Given the description of an element on the screen output the (x, y) to click on. 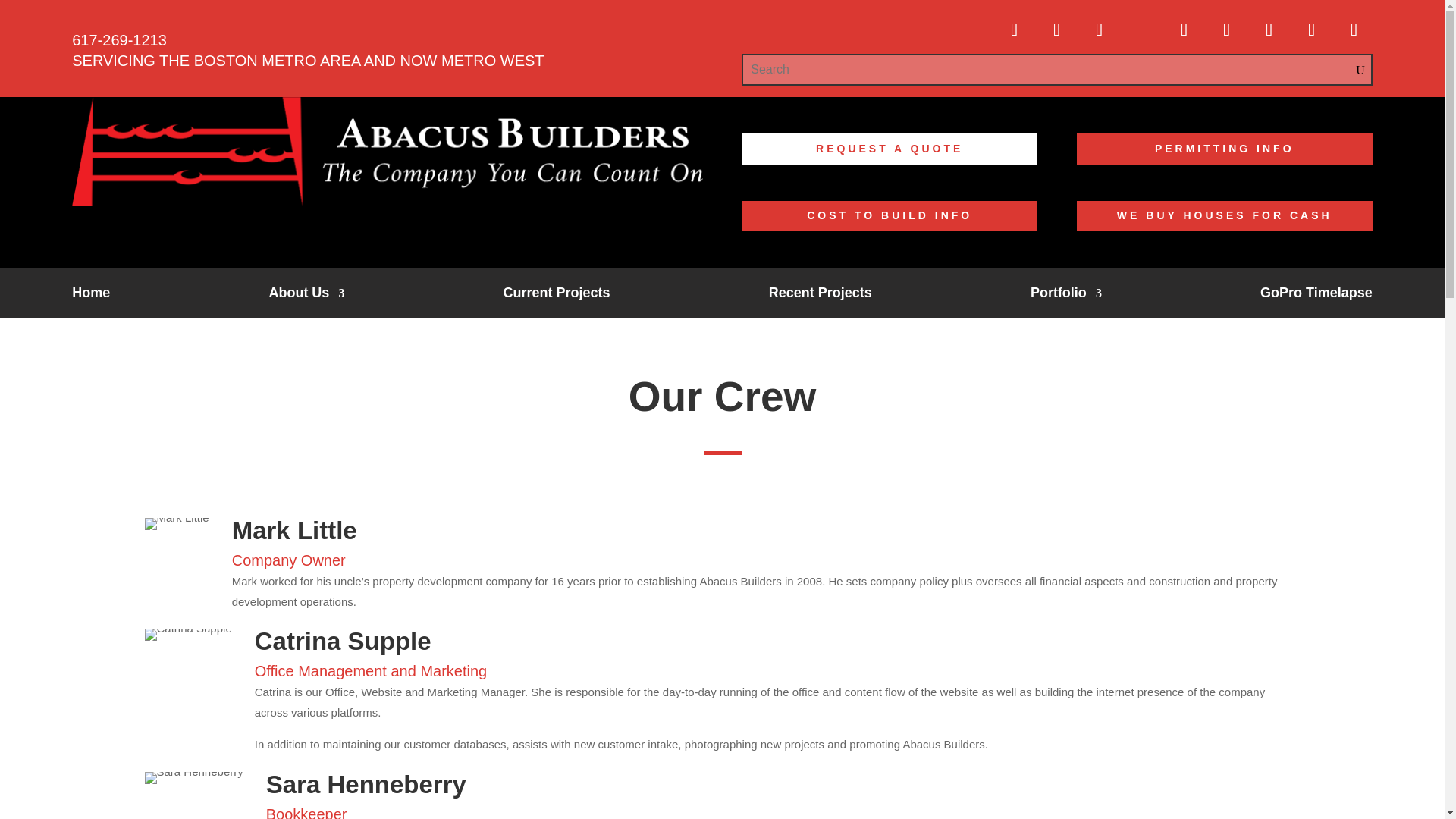
Follow on Facebook (1013, 29)
Follow on Youtube (1184, 29)
617-269-1213 (119, 39)
Follow on dribbble (1142, 29)
Follow on tumblr (1099, 29)
Follow on Twitter (1057, 29)
